Given the description of an element on the screen output the (x, y) to click on. 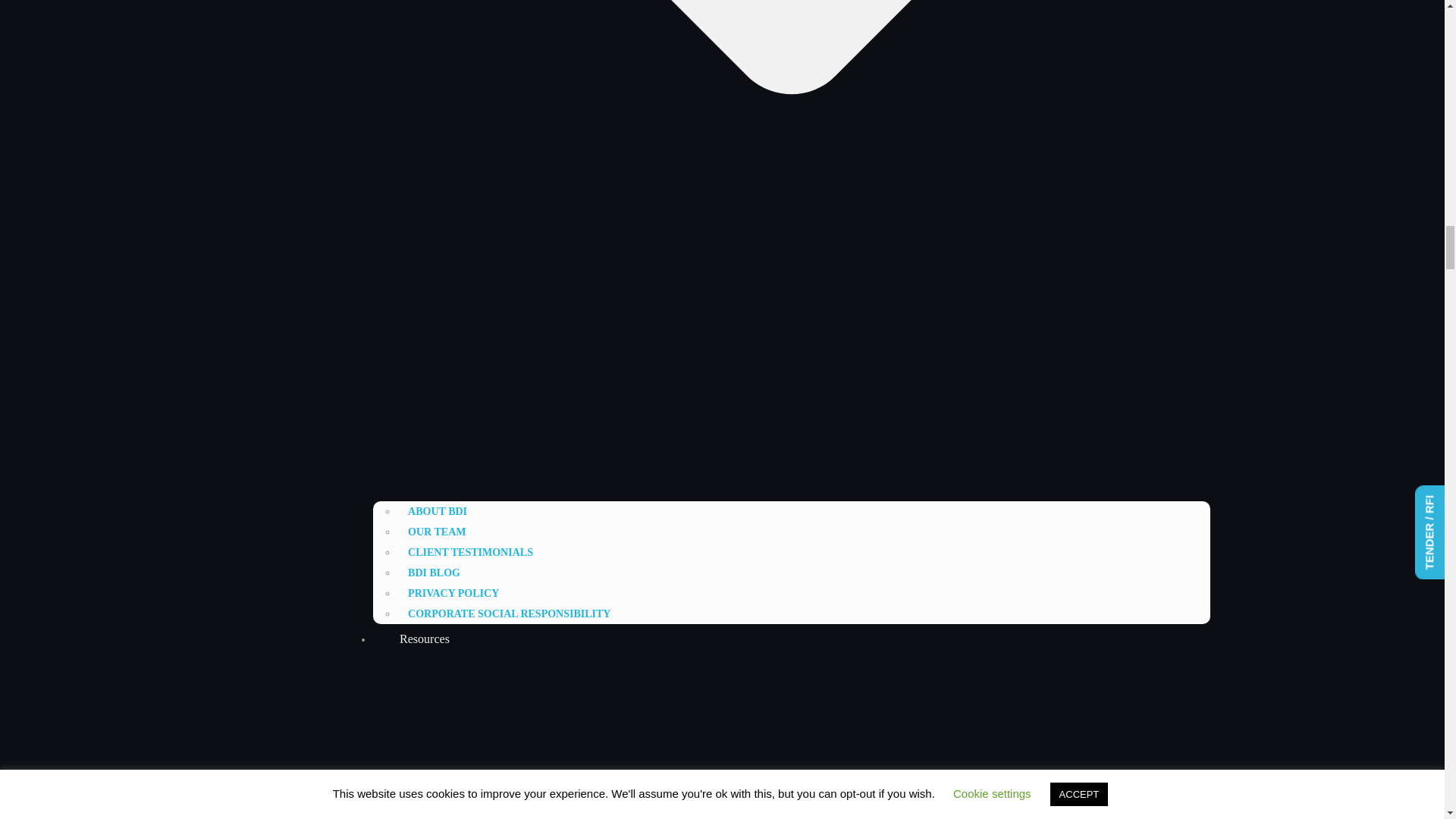
ABOUT BDI (437, 511)
PRIVACY POLICY (453, 593)
OUR TEAM (436, 531)
CLIENT TESTIMONIALS (470, 552)
CORPORATE SOCIAL RESPONSIBILITY (509, 613)
BDI BLOG (433, 572)
